Given the description of an element on the screen output the (x, y) to click on. 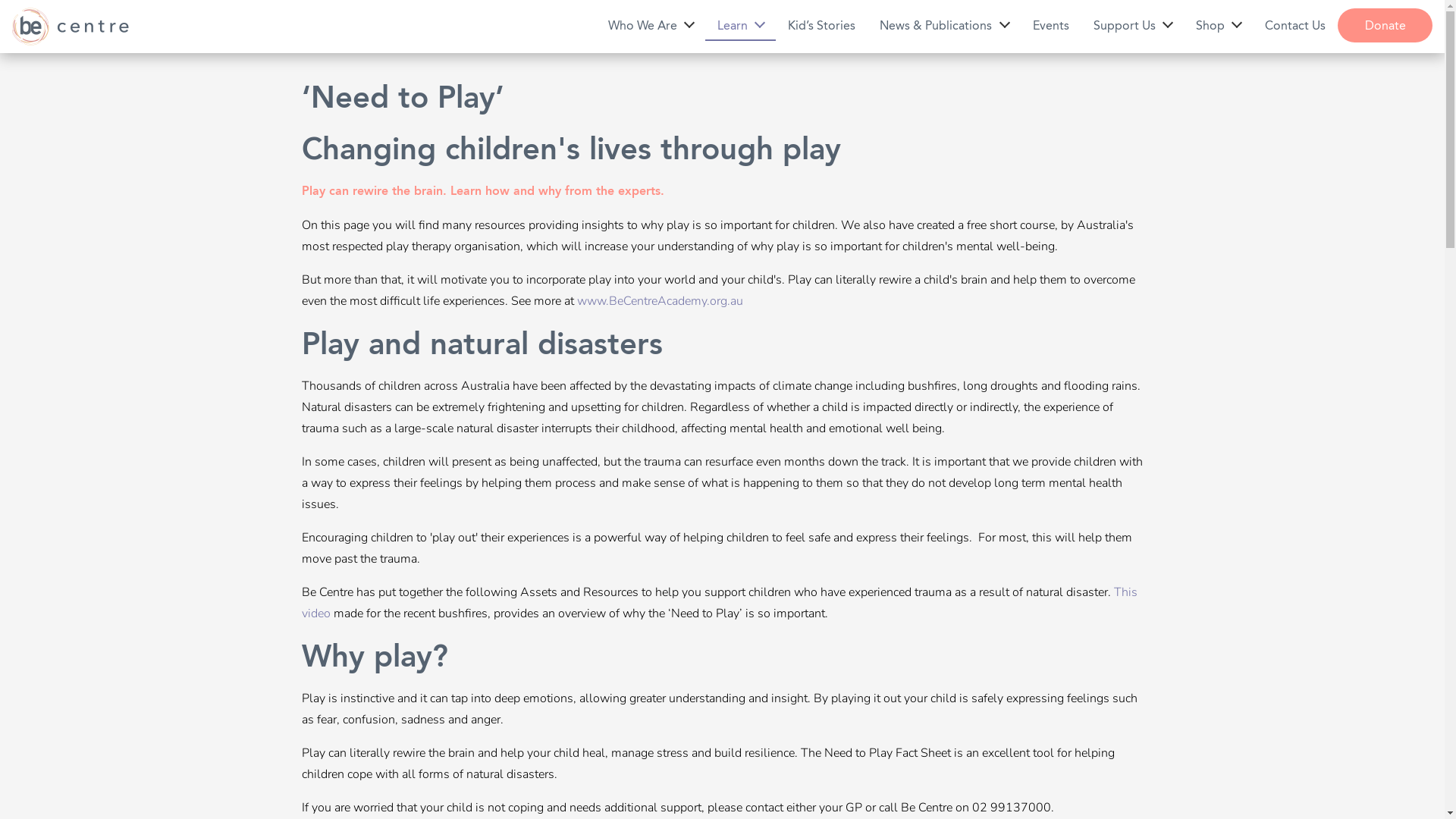
Learn Element type: text (740, 23)
This video Element type: text (719, 602)
Who We Are Element type: text (650, 23)
Support Us Element type: text (1132, 23)
www.BeCentreAcademy.org.au Element type: text (659, 300)
Contact Us Element type: text (1294, 23)
Donate Element type: text (1384, 25)
Shop Element type: text (1217, 23)
News & Publications Element type: text (943, 23)
Events Element type: text (1050, 23)
